Given the description of an element on the screen output the (x, y) to click on. 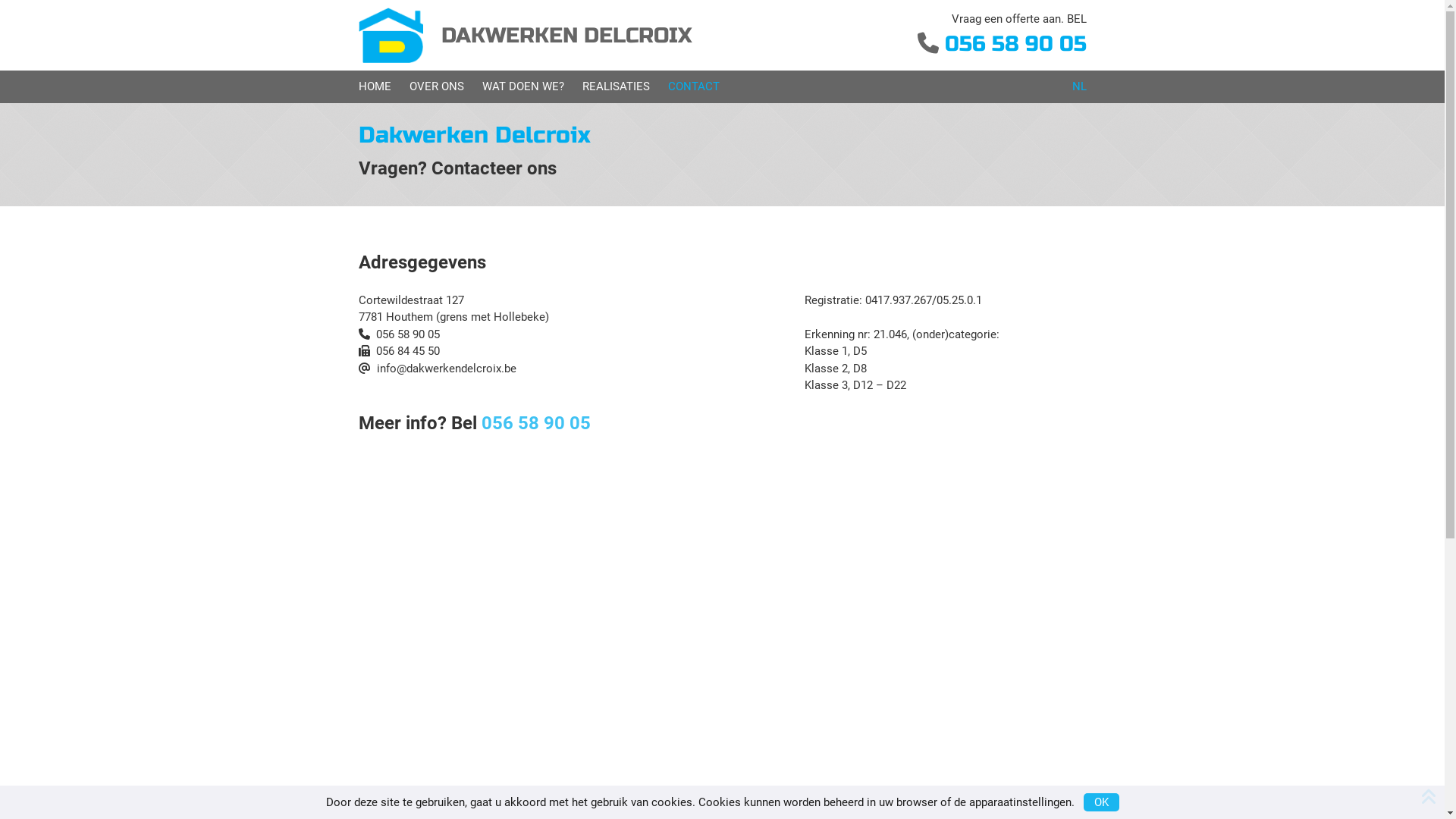
056 58 90 05 Element type: text (1015, 43)
OVER ONS Element type: text (436, 86)
WAT DOEN WE? Element type: text (523, 86)
CONTACT Element type: text (692, 86)
NL Element type: text (1079, 86)
HOME Element type: text (373, 86)
REALISATIES Element type: text (615, 86)
056 58 90 05 Element type: text (534, 422)
056 58 90 05 Element type: text (407, 334)
info@dakwerkendelcroix.be Element type: text (445, 368)
OK Element type: text (1100, 802)
